Given the description of an element on the screen output the (x, y) to click on. 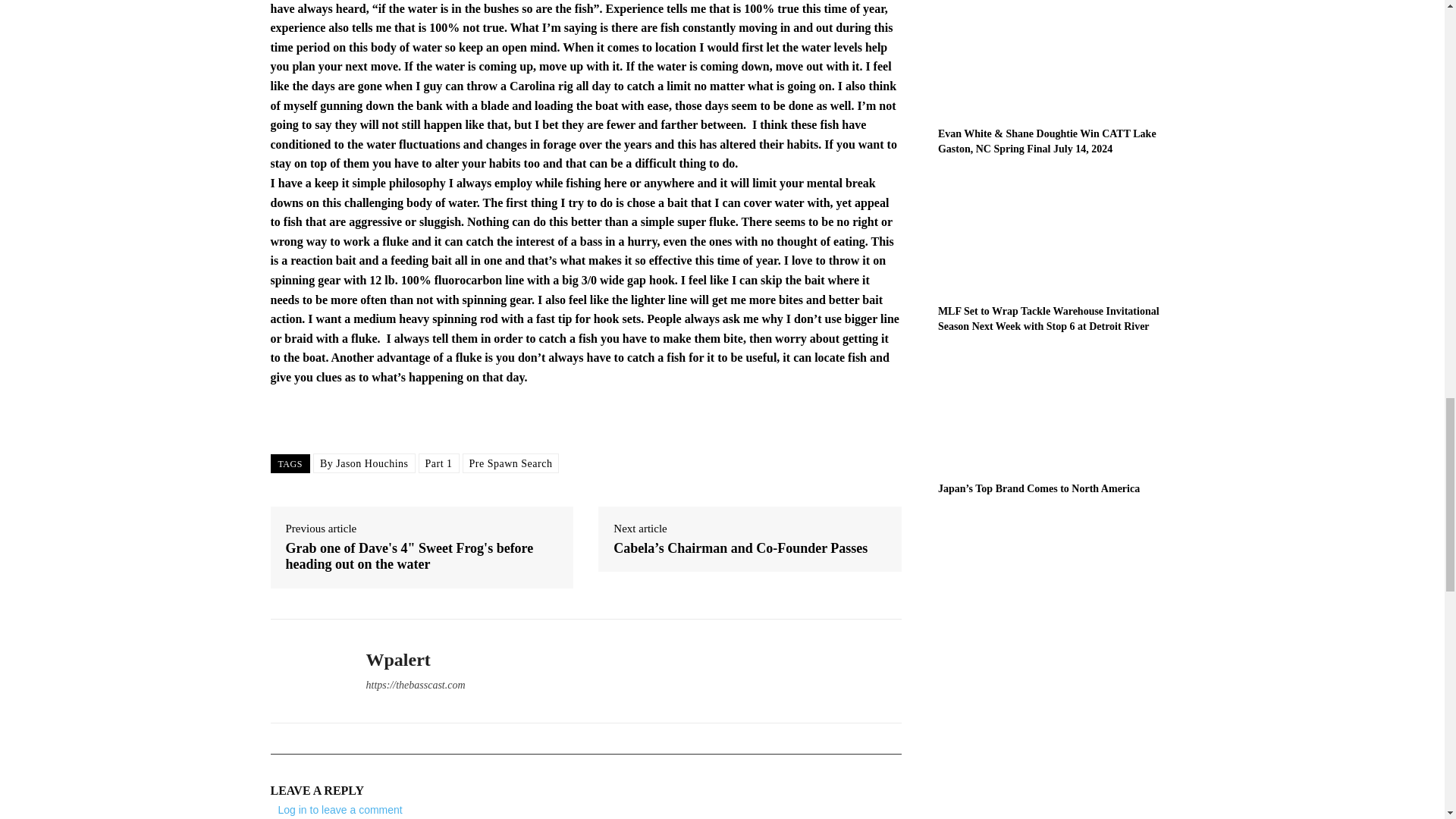
wpalert (305, 670)
Part 1 (439, 463)
By Jason Houchins (363, 463)
